Given the description of an element on the screen output the (x, y) to click on. 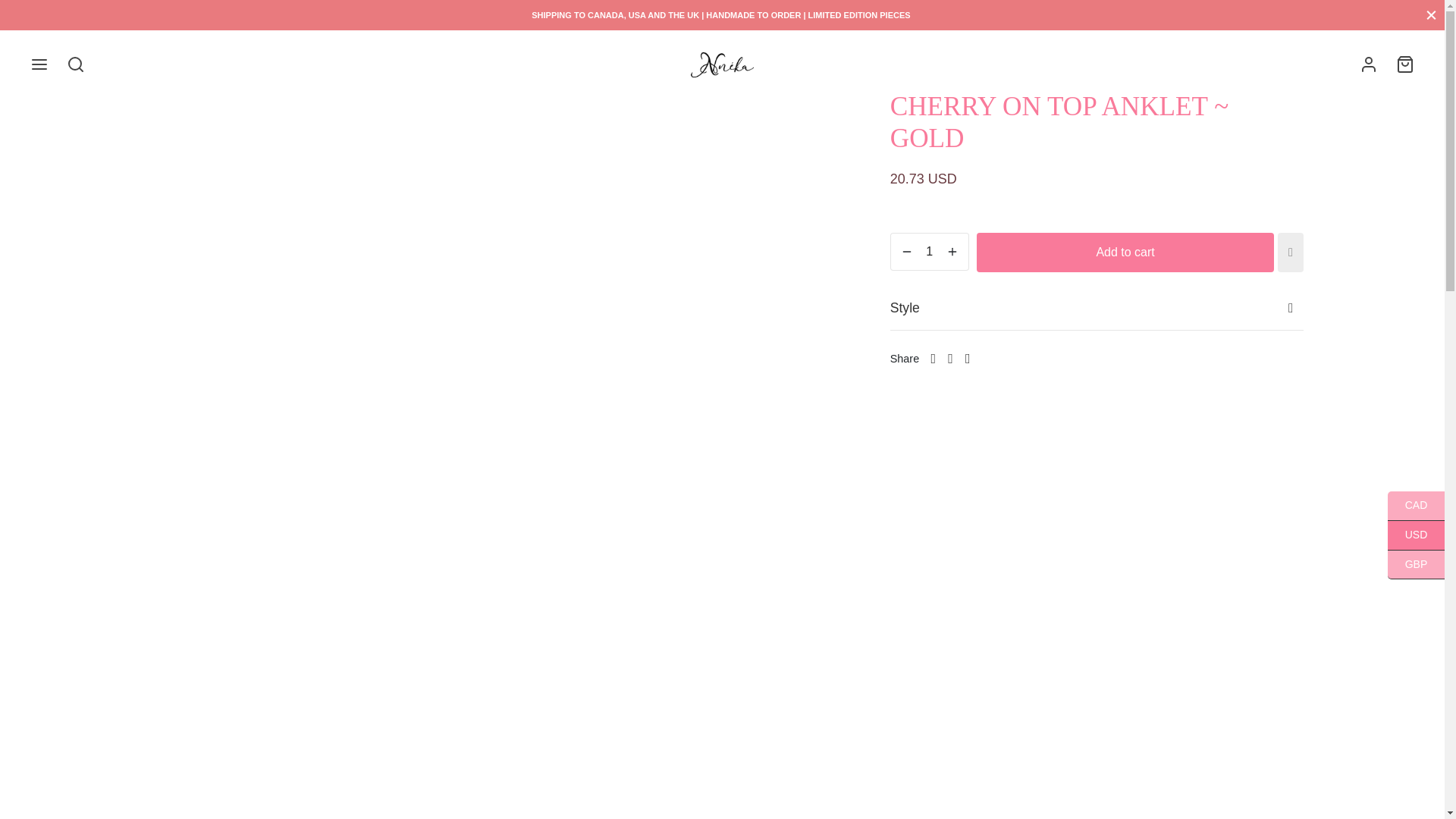
Style (1096, 308)
Close (1431, 14)
1 (929, 251)
Cart (1404, 64)
Add to cart (1125, 251)
Qty (929, 251)
